Given the description of an element on the screen output the (x, y) to click on. 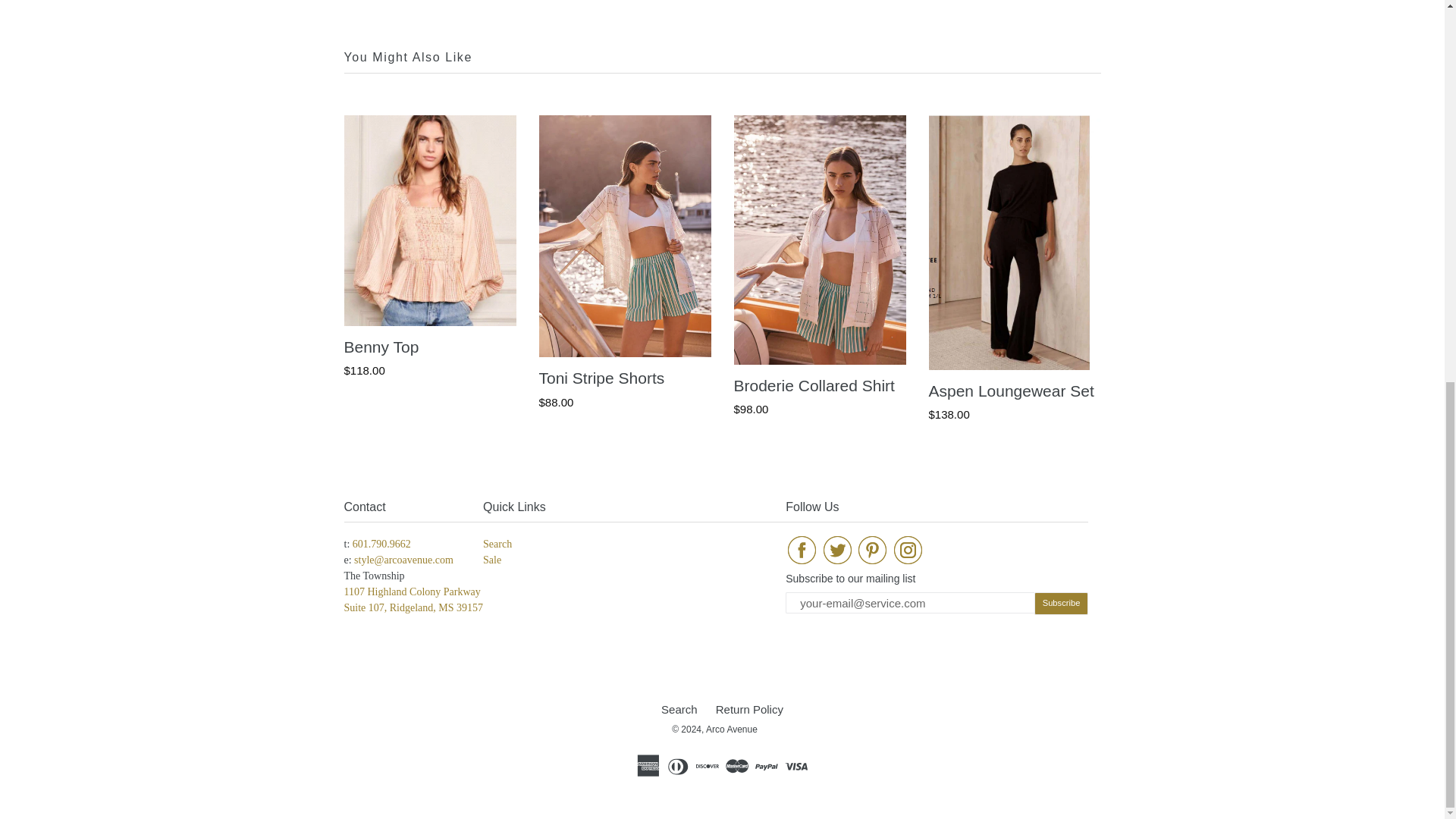
ArcoAve Test on Twitter (837, 552)
Subscribe (1061, 603)
ArcoAve Test on Instagram (907, 552)
ArcoAve Test on Pinterest (872, 552)
ArcoAve Test on Facebook (802, 552)
